Given the description of an element on the screen output the (x, y) to click on. 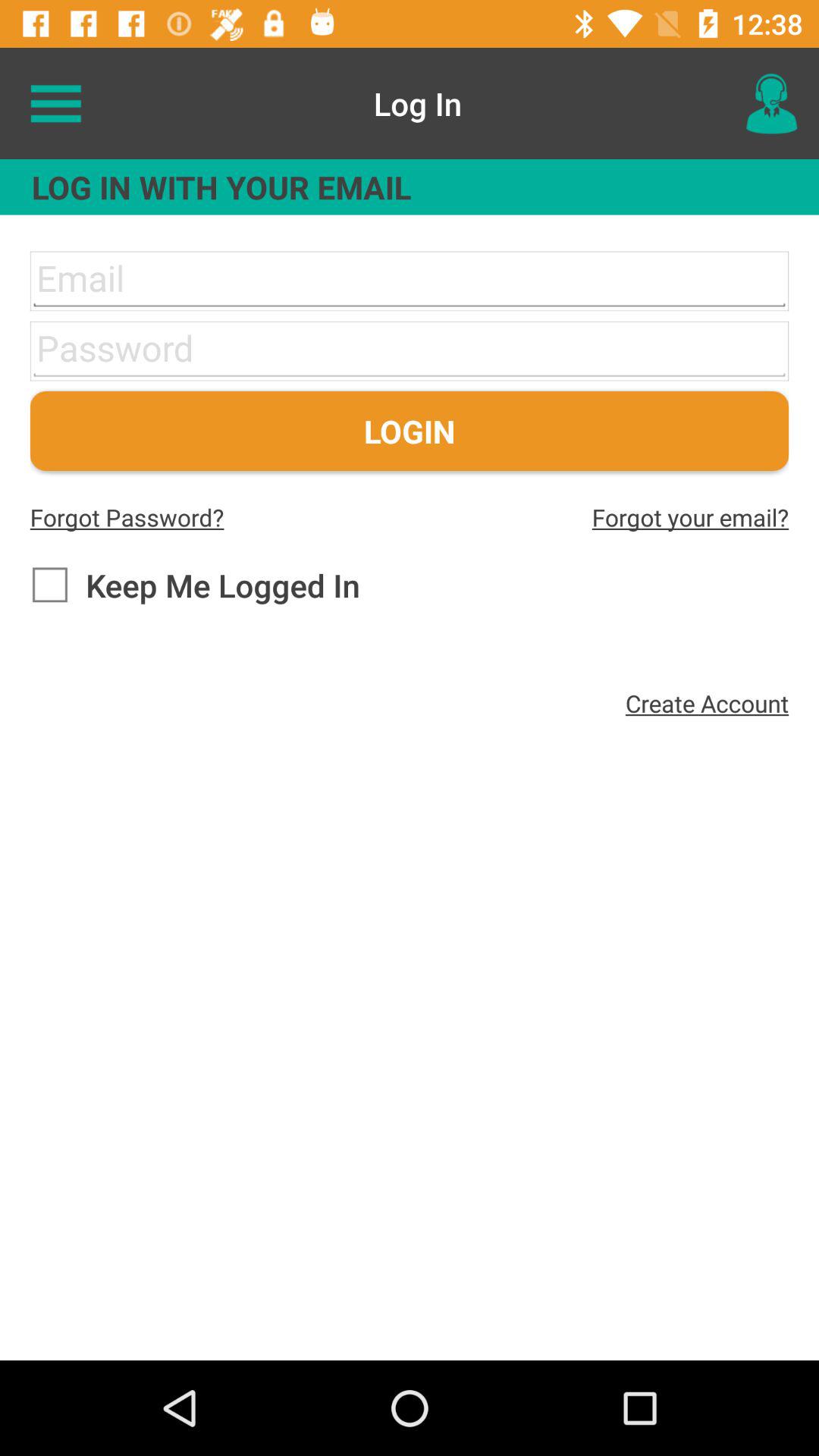
open the item above the log in with item (771, 103)
